Given the description of an element on the screen output the (x, y) to click on. 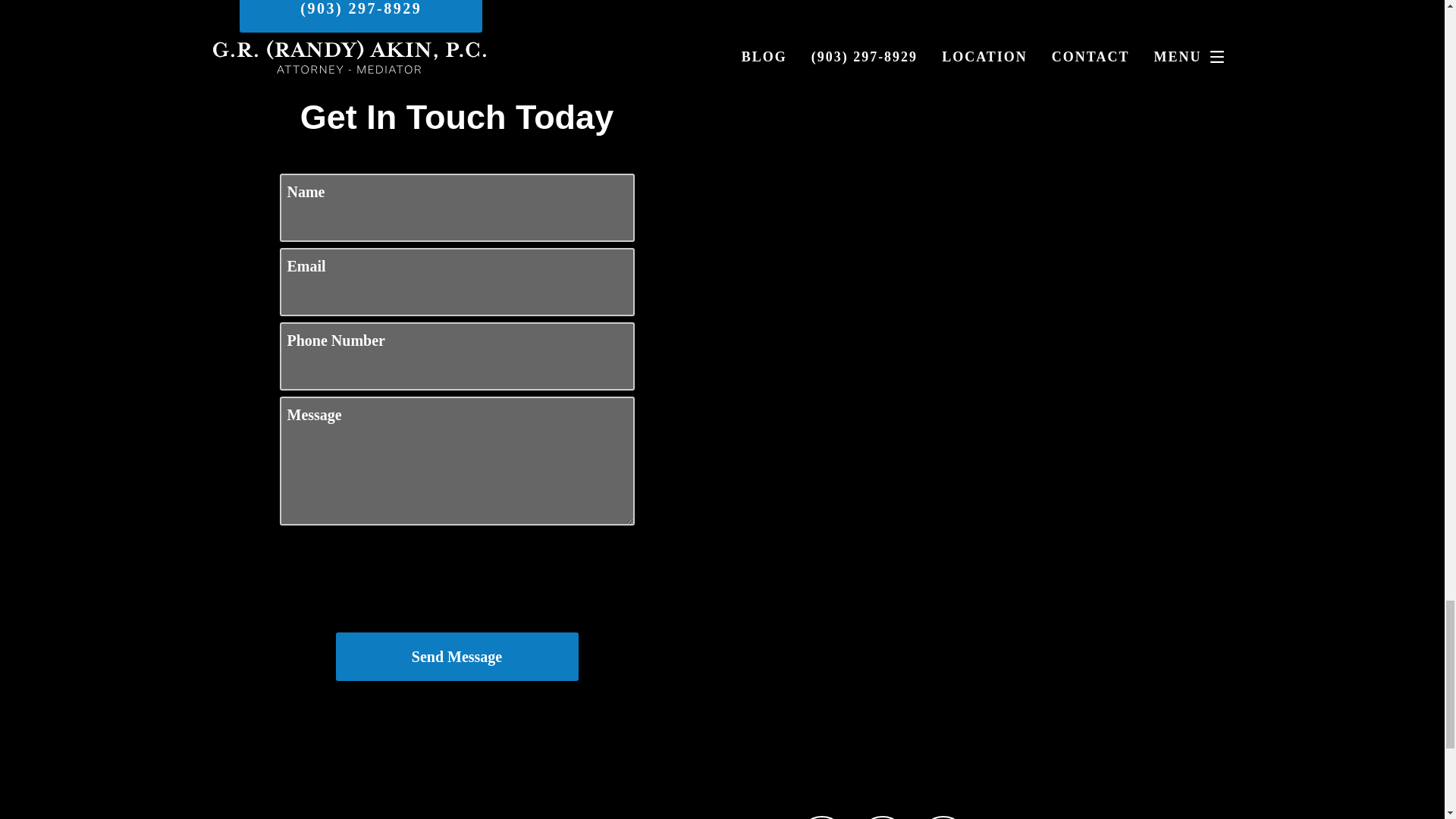
Facebook (883, 817)
Google (821, 817)
Twitter (943, 817)
Send Message (456, 656)
